Given the description of an element on the screen output the (x, y) to click on. 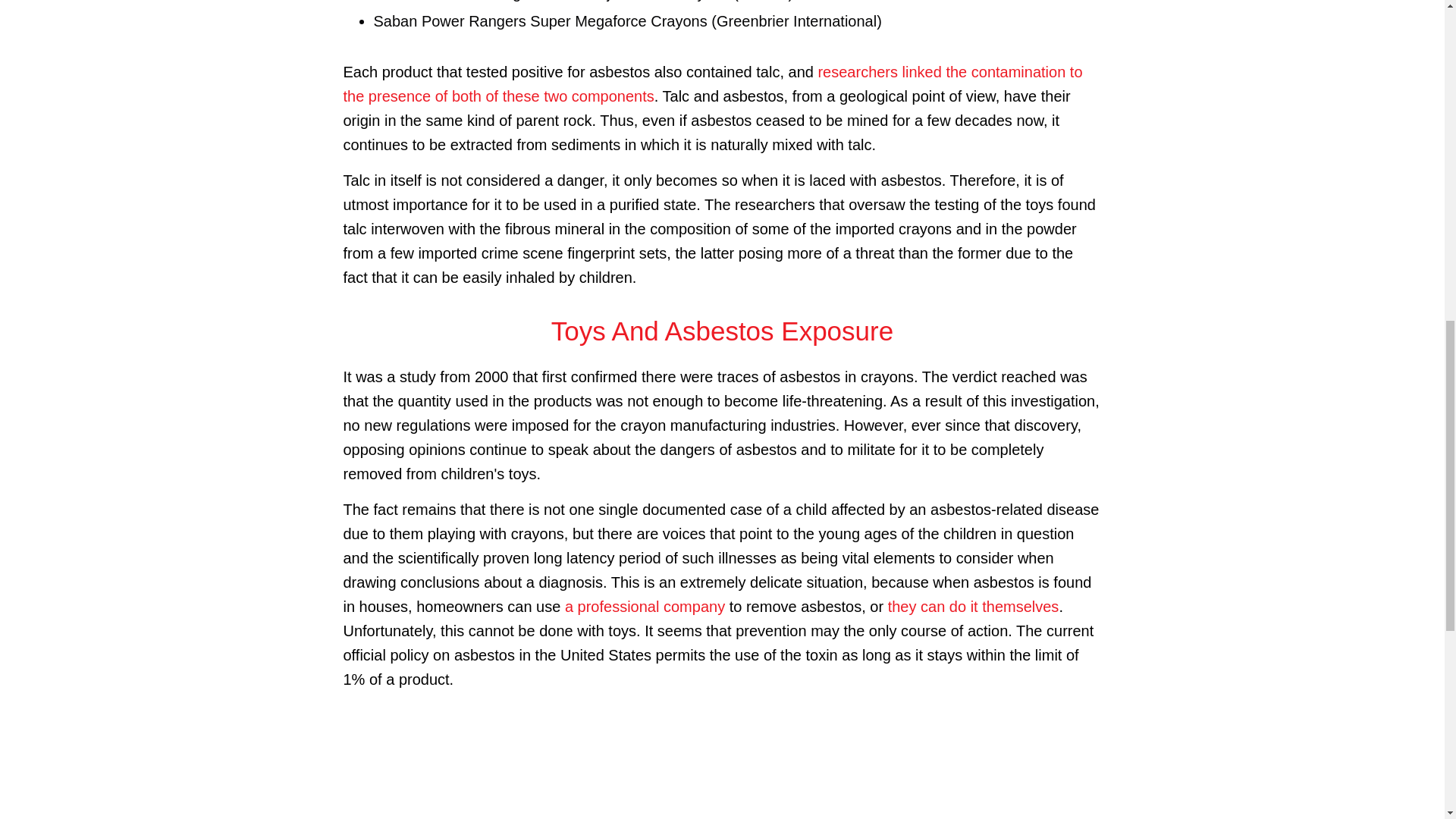
they can do it themselves (973, 606)
a professional company (644, 606)
